Given the description of an element on the screen output the (x, y) to click on. 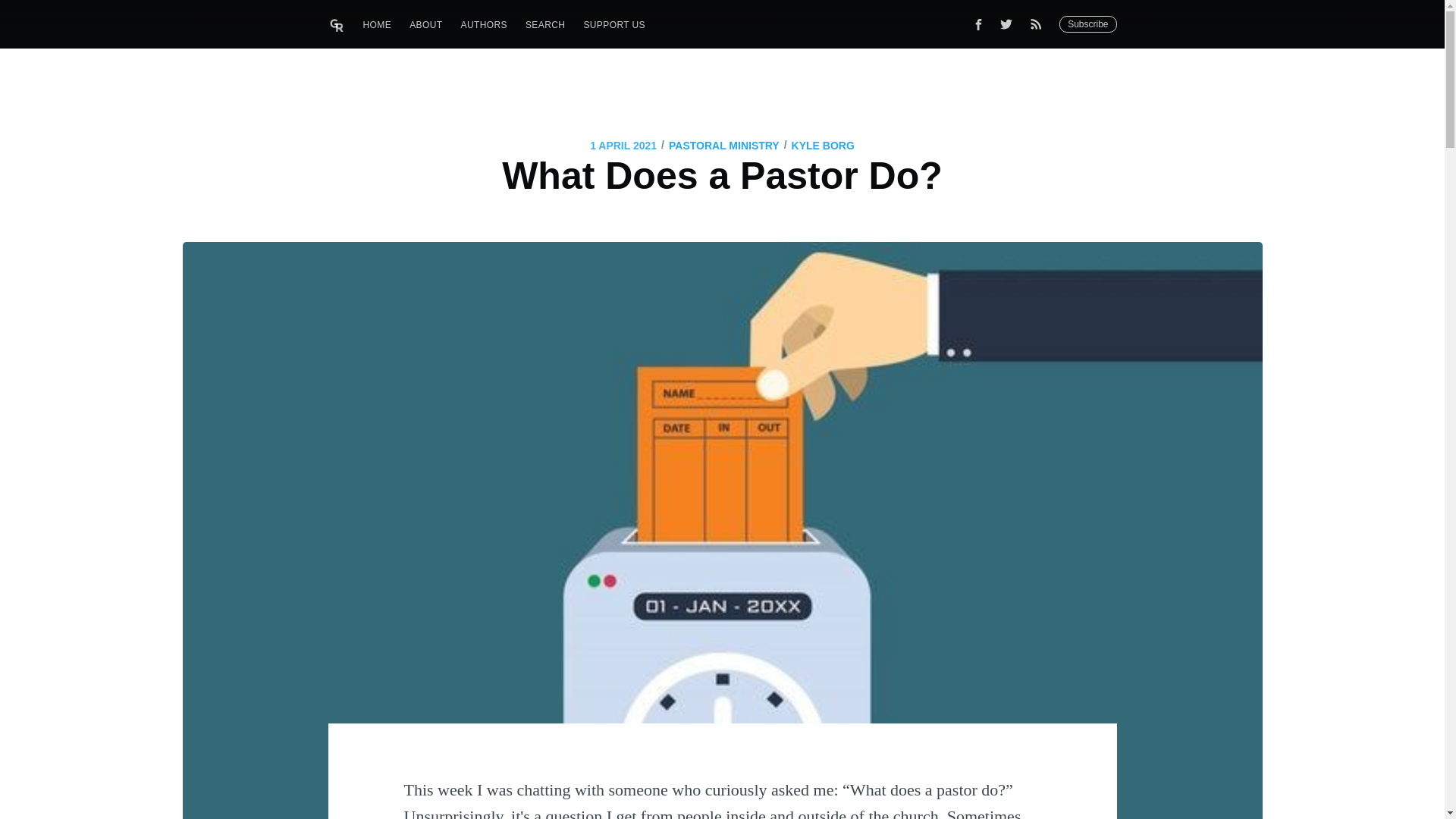
AUTHORS (483, 25)
ABOUT (425, 25)
SUPPORT US (613, 25)
Subscribe (1087, 23)
HOME (377, 25)
PASTORAL MINISTRY (723, 145)
KYLE BORG (823, 145)
SEARCH (544, 25)
